Given the description of an element on the screen output the (x, y) to click on. 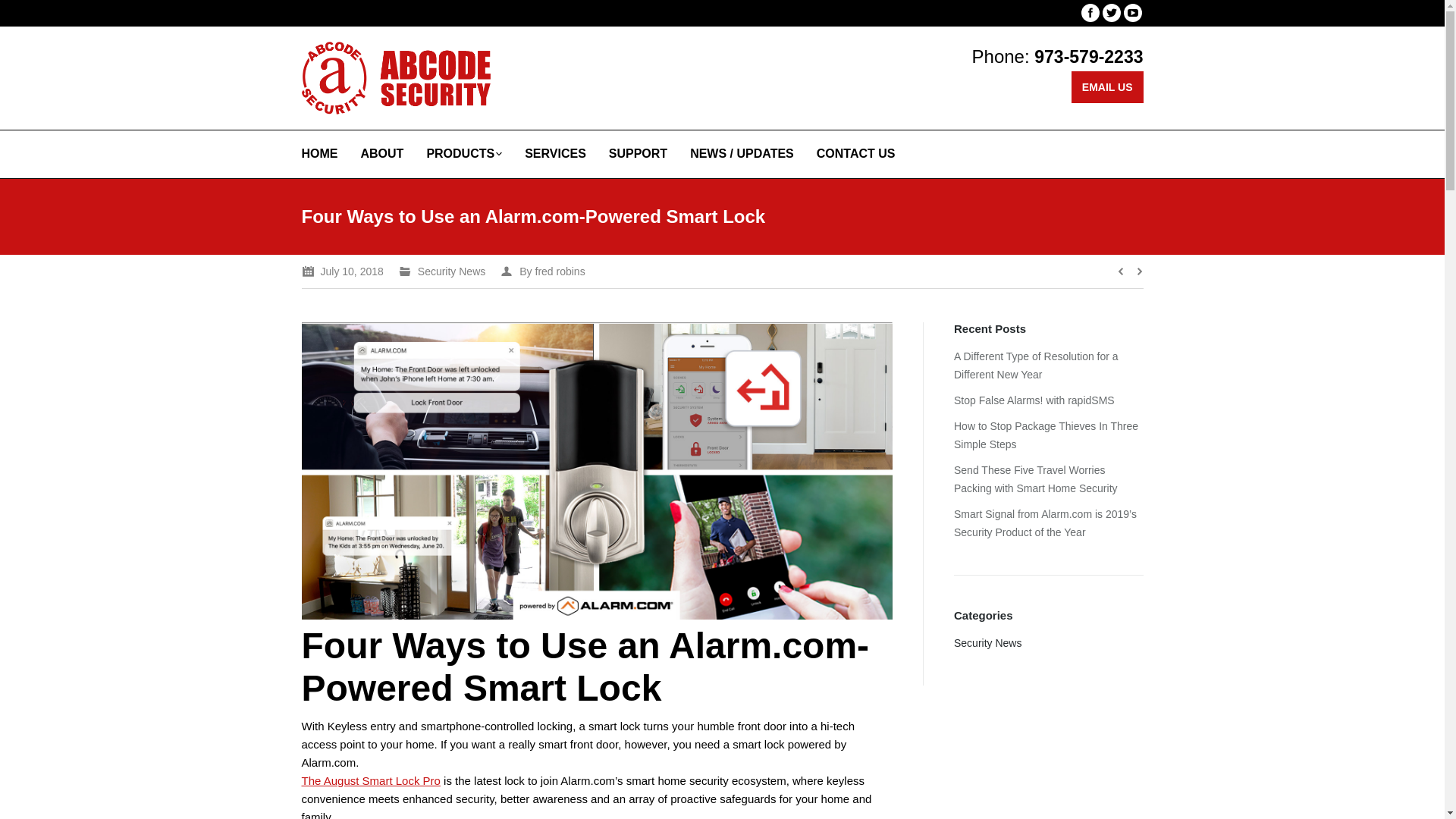
By fred robins (542, 271)
Contact Us (1106, 87)
SERVICES (555, 153)
Security News (450, 271)
ABOUT (382, 153)
11:38 pm (342, 271)
HOME (319, 153)
YouTube (1132, 13)
EMAIL US (1106, 87)
July 10, 2018 (342, 271)
